Given the description of an element on the screen output the (x, y) to click on. 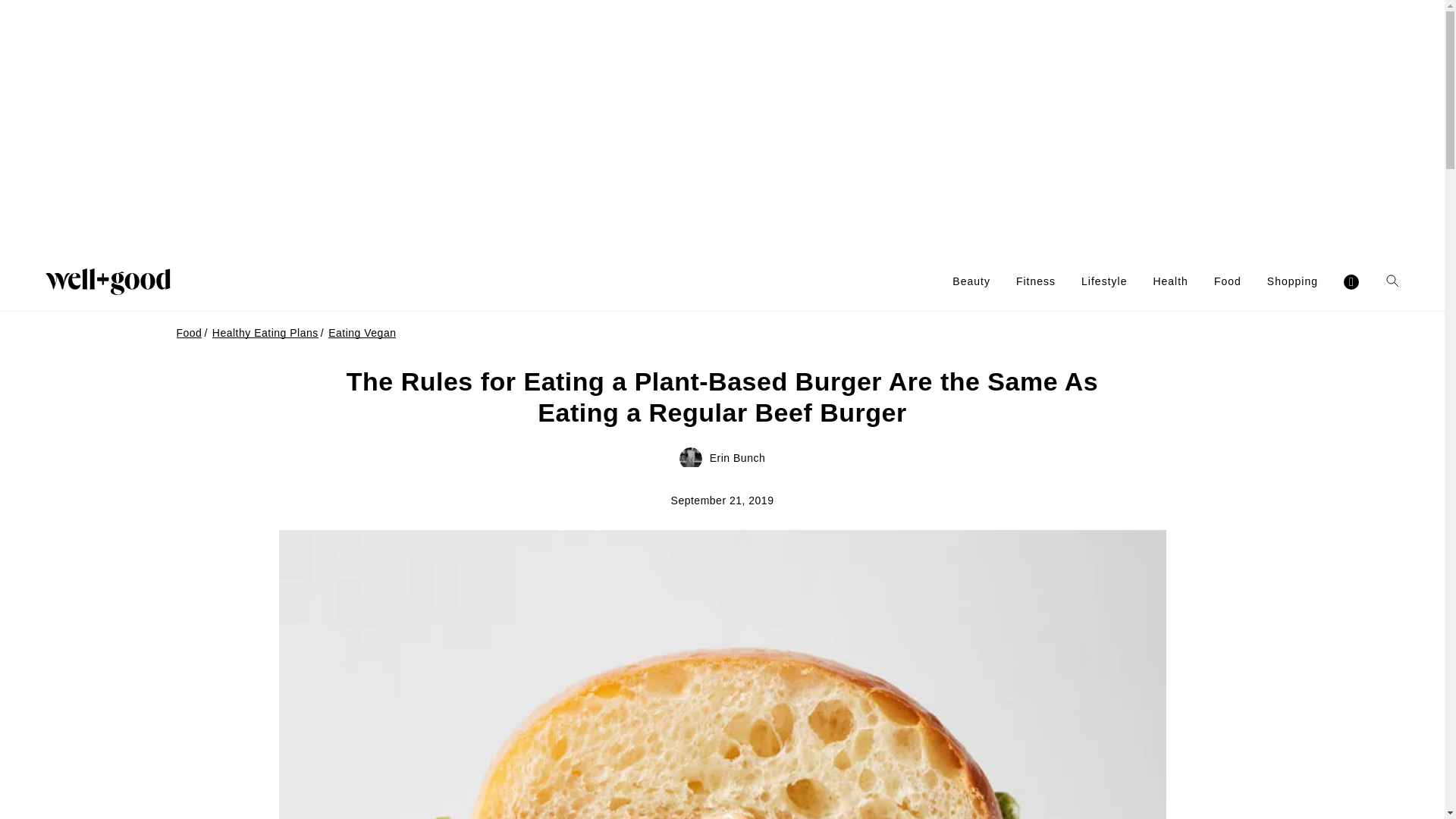
Food (1227, 281)
Health (1170, 281)
Lifestyle (1103, 281)
Beauty (971, 281)
Shopping (1291, 281)
Fitness (1035, 281)
